Given the description of an element on the screen output the (x, y) to click on. 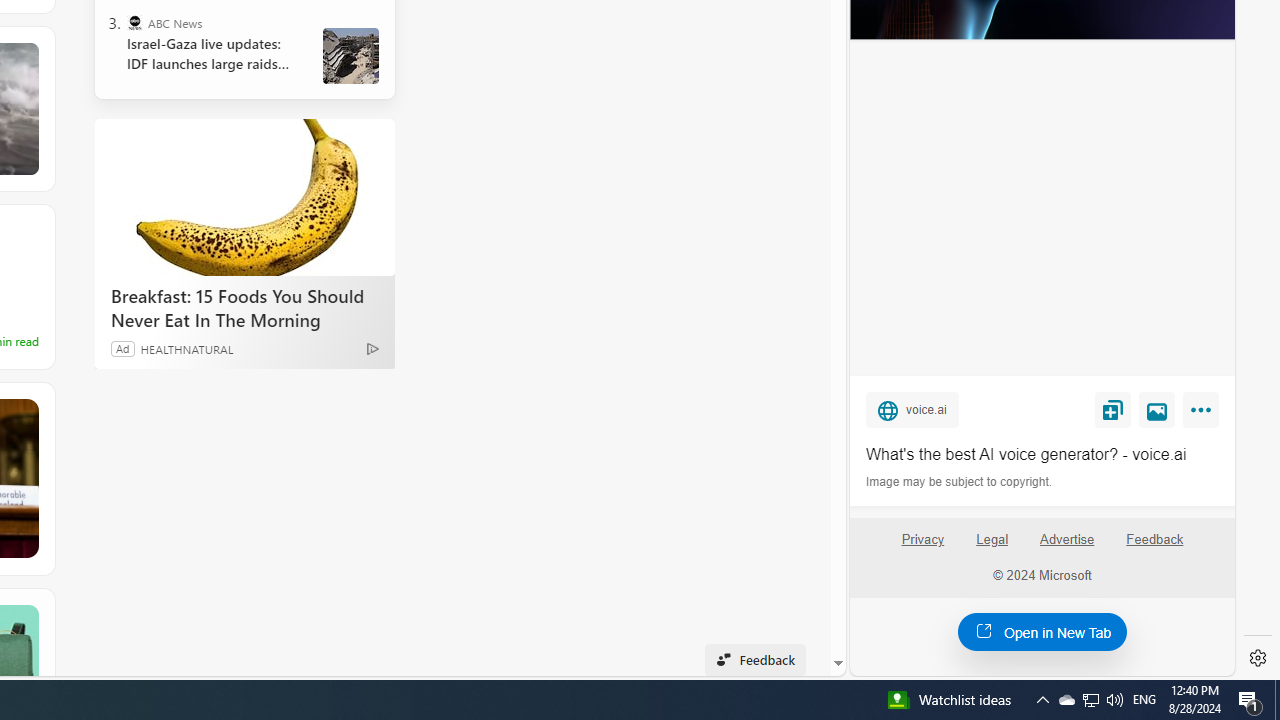
HEALTHNATURAL (186, 348)
Settings (1258, 658)
Legal (992, 547)
Advertise (1067, 547)
More (1204, 413)
Image may be subject to copyright. (959, 481)
Save (1112, 409)
View image (1157, 409)
